Given the description of an element on the screen output the (x, y) to click on. 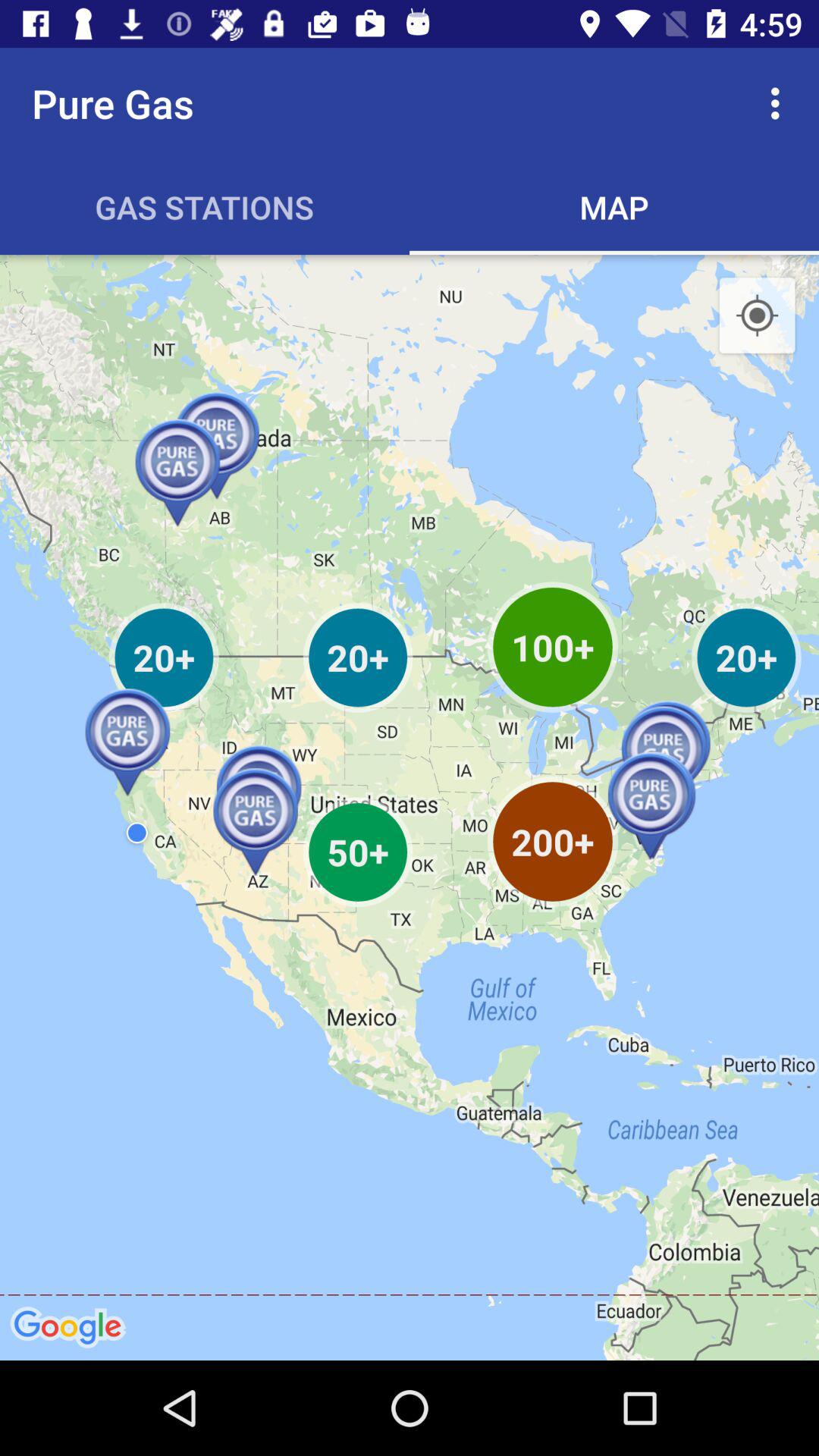
open the item next to pure gas app (779, 103)
